Given the description of an element on the screen output the (x, y) to click on. 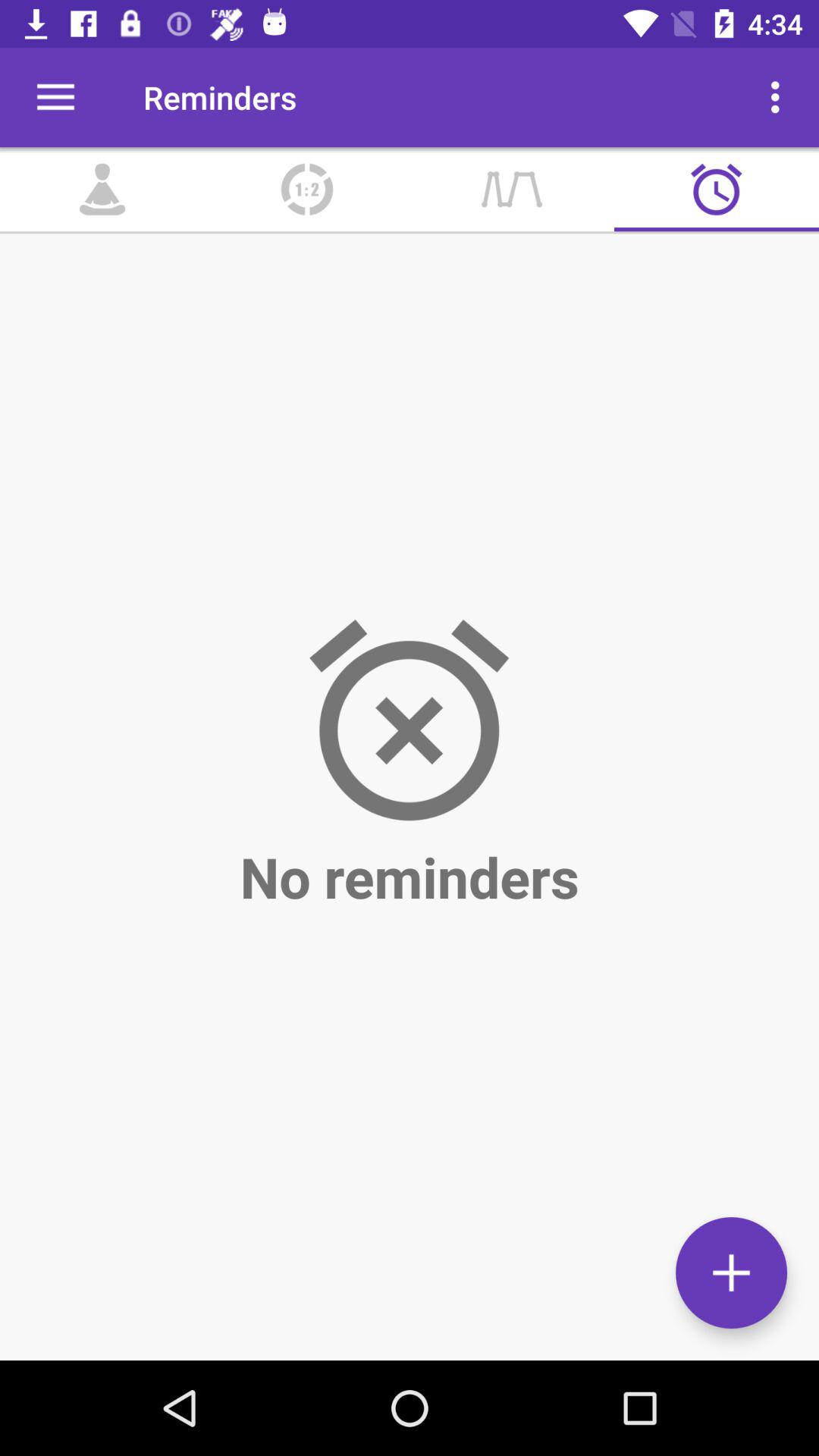
open the item at the bottom right corner (731, 1272)
